Given the description of an element on the screen output the (x, y) to click on. 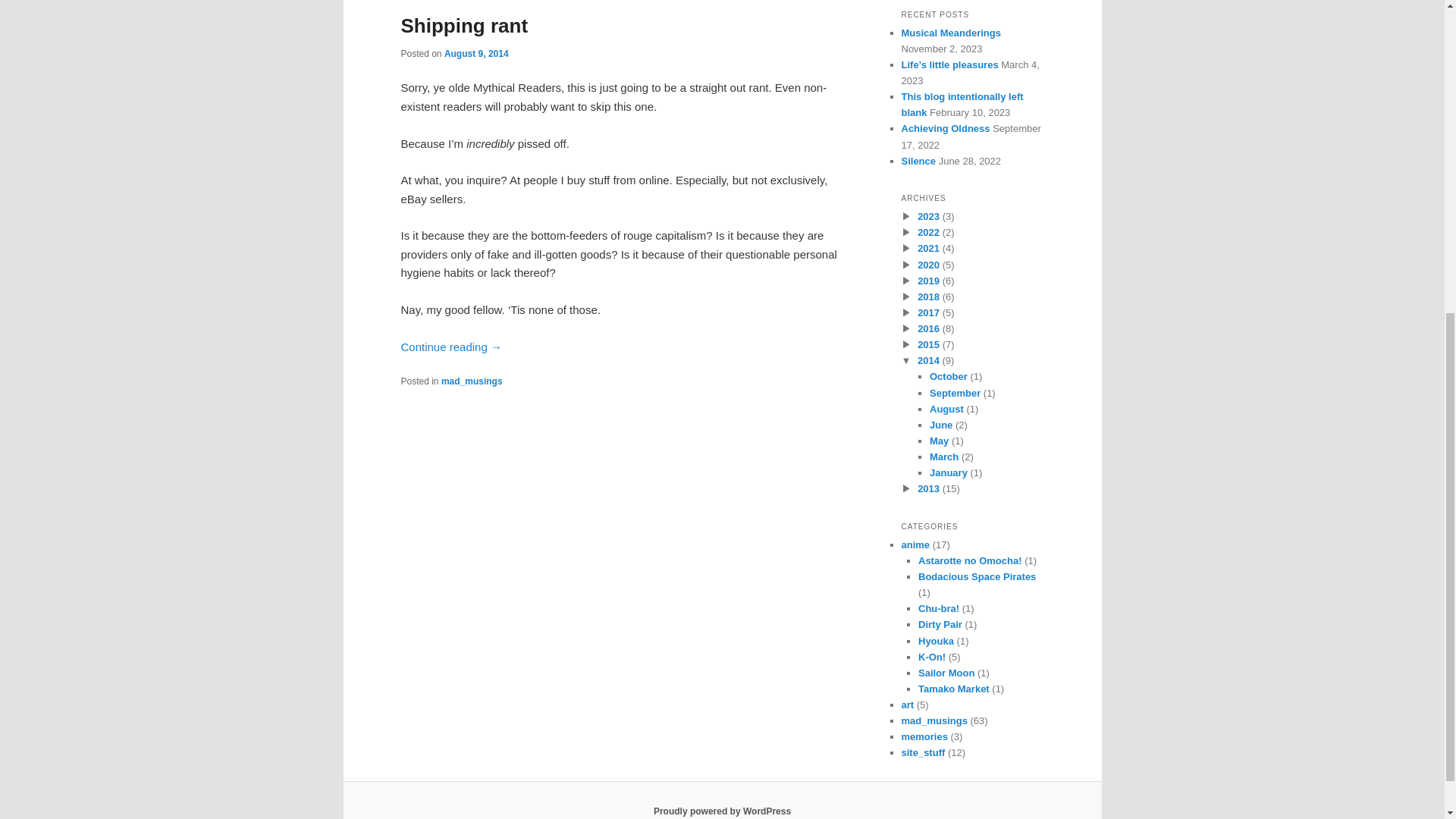
2022 (928, 232)
2:35 AM (476, 53)
Musical Meanderings (950, 32)
Silence (918, 161)
Semantic Personal Publishing Platform (721, 810)
2023 (928, 215)
2019 (928, 280)
August 9, 2014 (476, 53)
Shipping rant (463, 25)
2020 (928, 265)
